Given the description of an element on the screen output the (x, y) to click on. 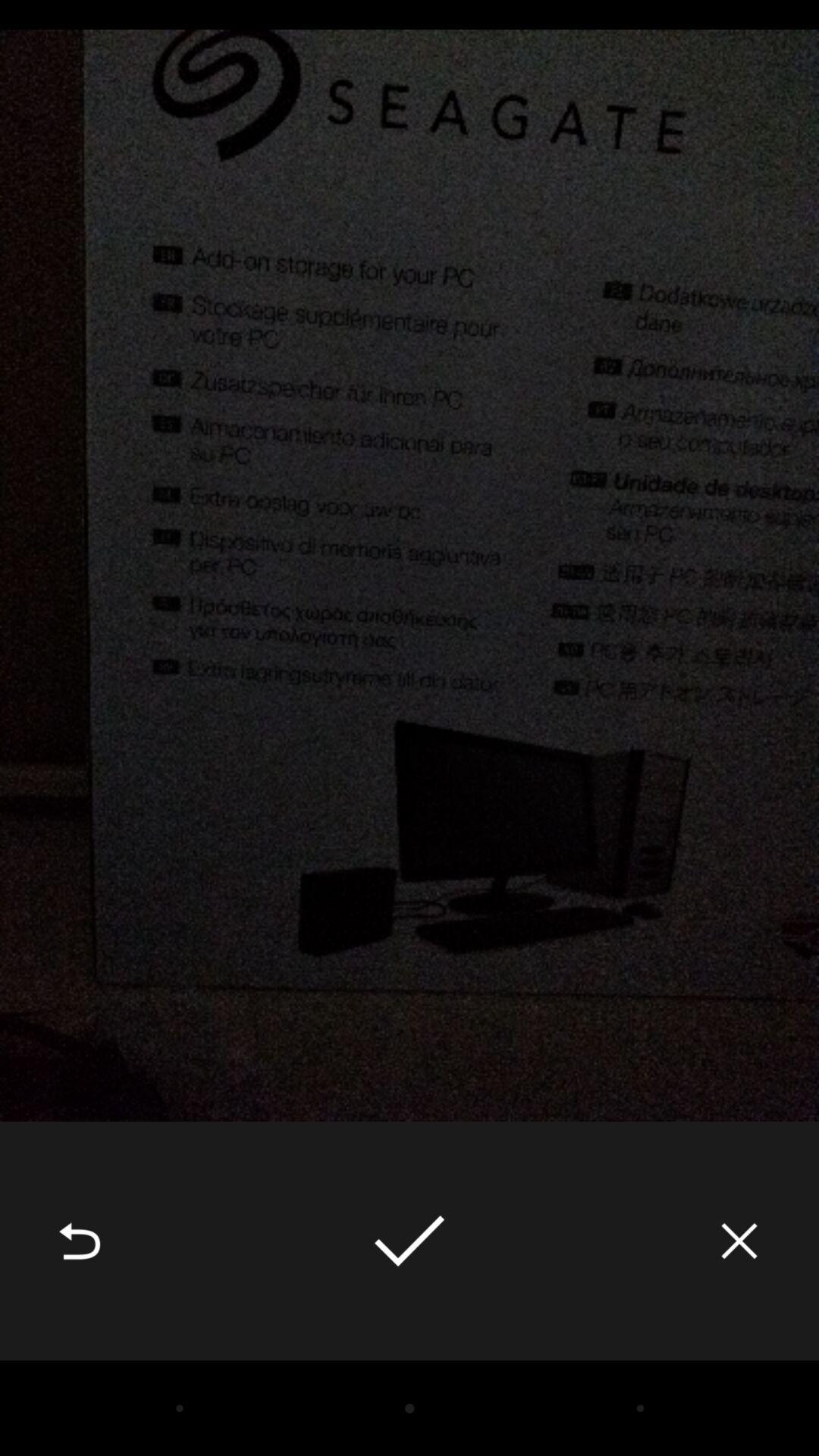
turn on item at the bottom left corner (79, 1240)
